Given the description of an element on the screen output the (x, y) to click on. 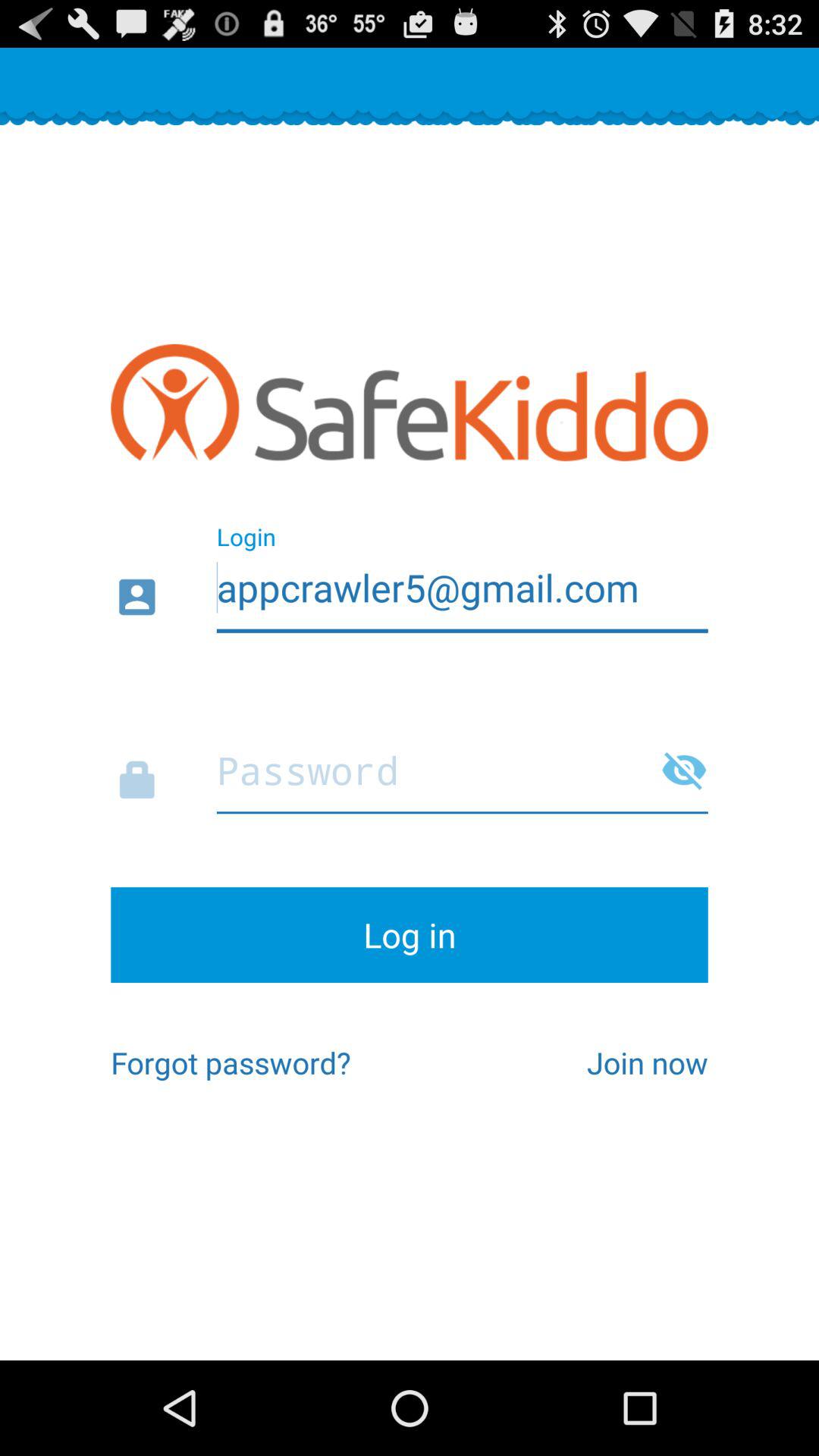
go to password (409, 765)
